Given the description of an element on the screen output the (x, y) to click on. 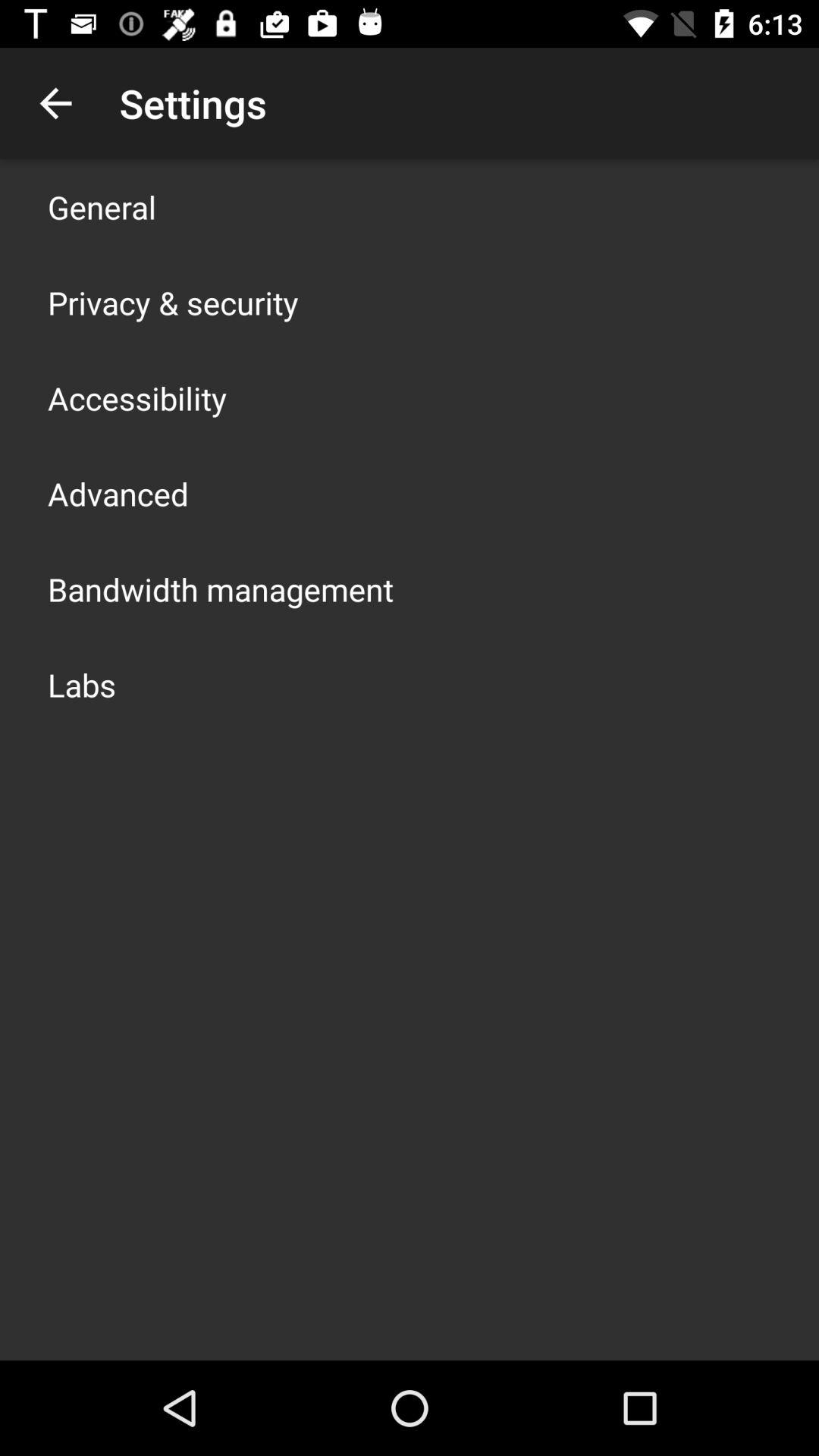
select the labs (81, 684)
